Given the description of an element on the screen output the (x, y) to click on. 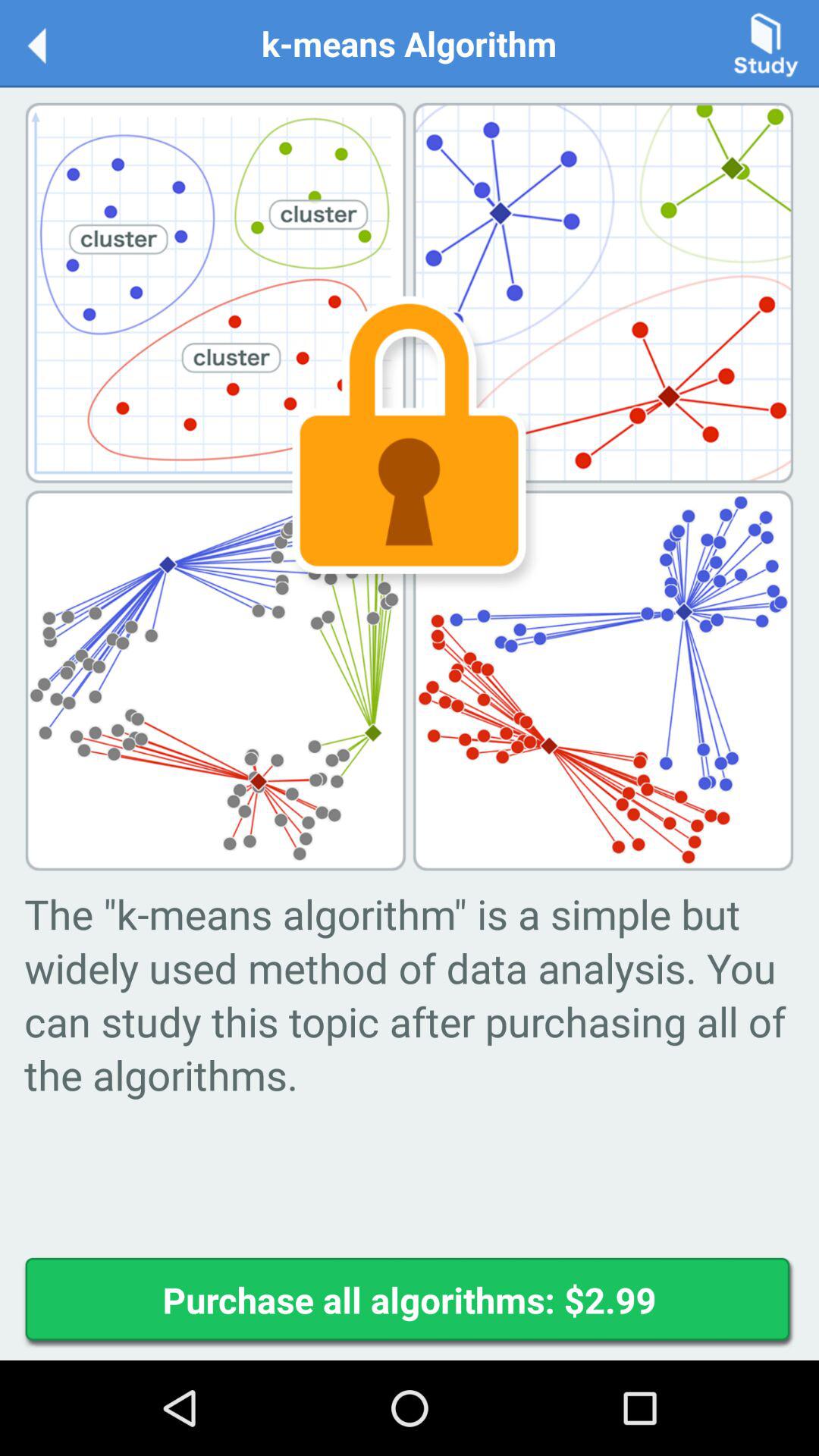
go back (52, 42)
